Given the description of an element on the screen output the (x, y) to click on. 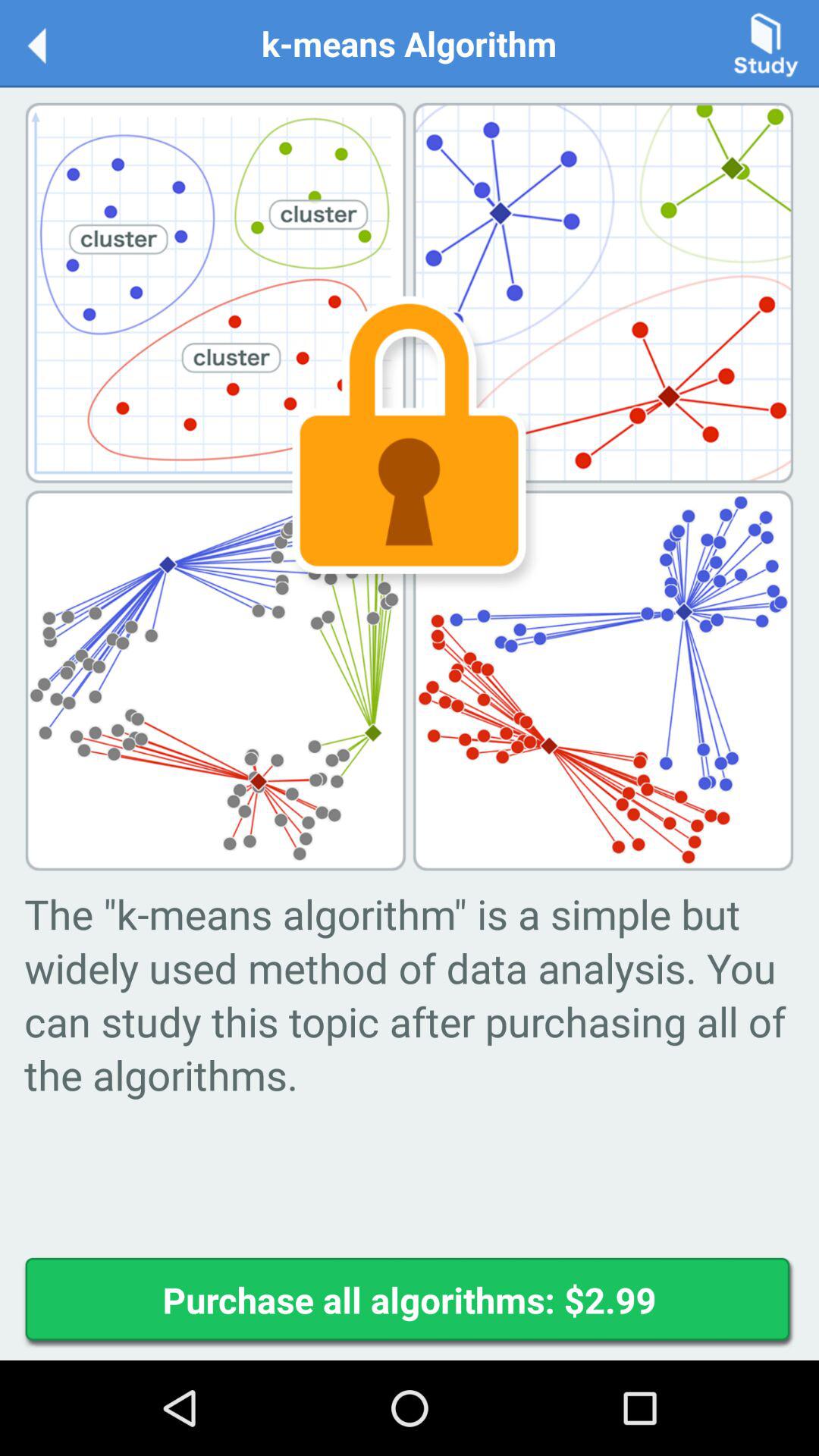
go back (52, 42)
